Given the description of an element on the screen output the (x, y) to click on. 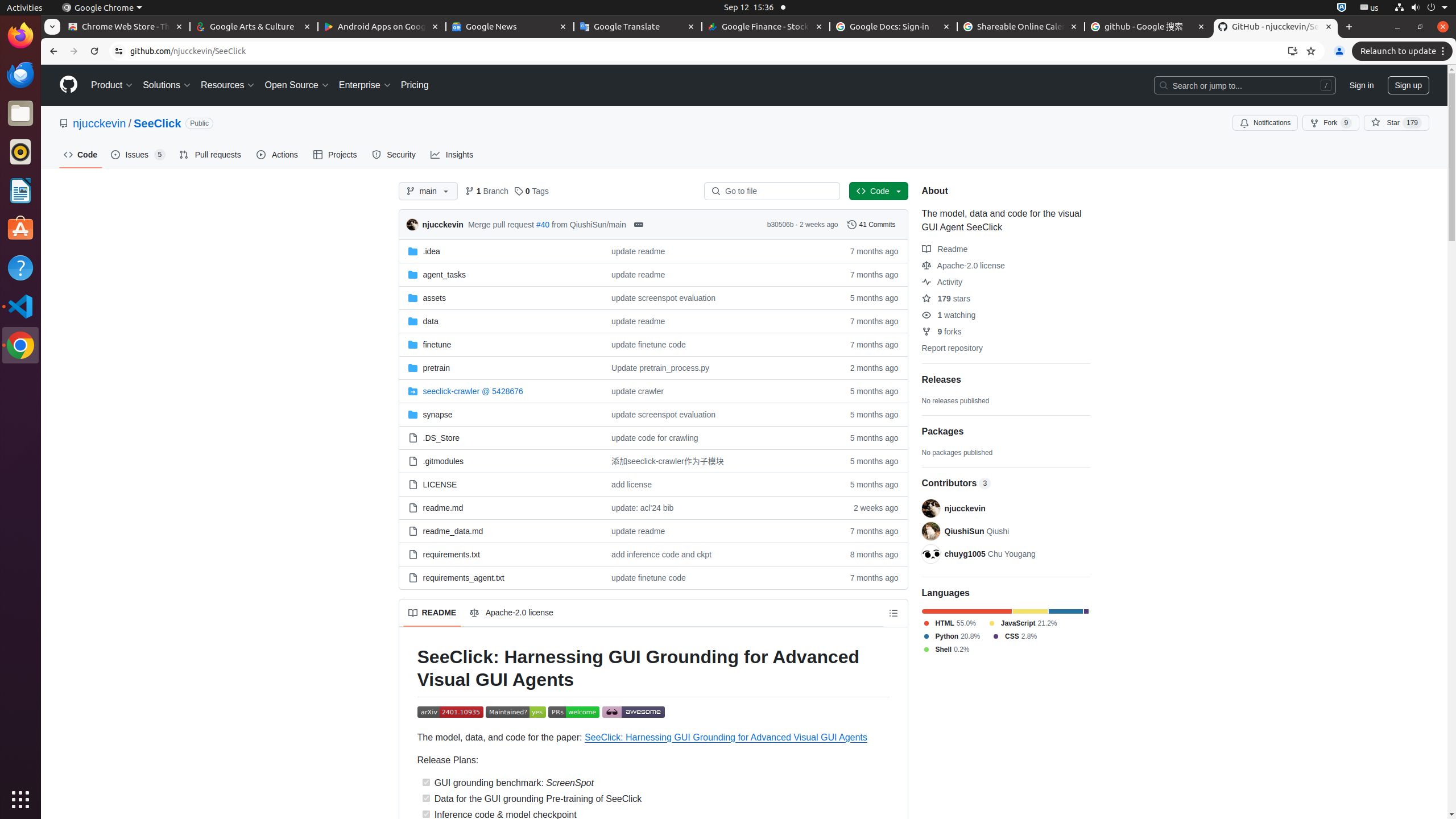
PR's Welcome Element type: link (574, 712)
update finetune code Element type: table-cell (716, 577)
5 months ago Element type: table-cell (868, 483)
Open commit details Element type: toggle-button (638, 224)
:1.72/StatusNotifierItem Element type: menu (1341, 7)
